Given the description of an element on the screen output the (x, y) to click on. 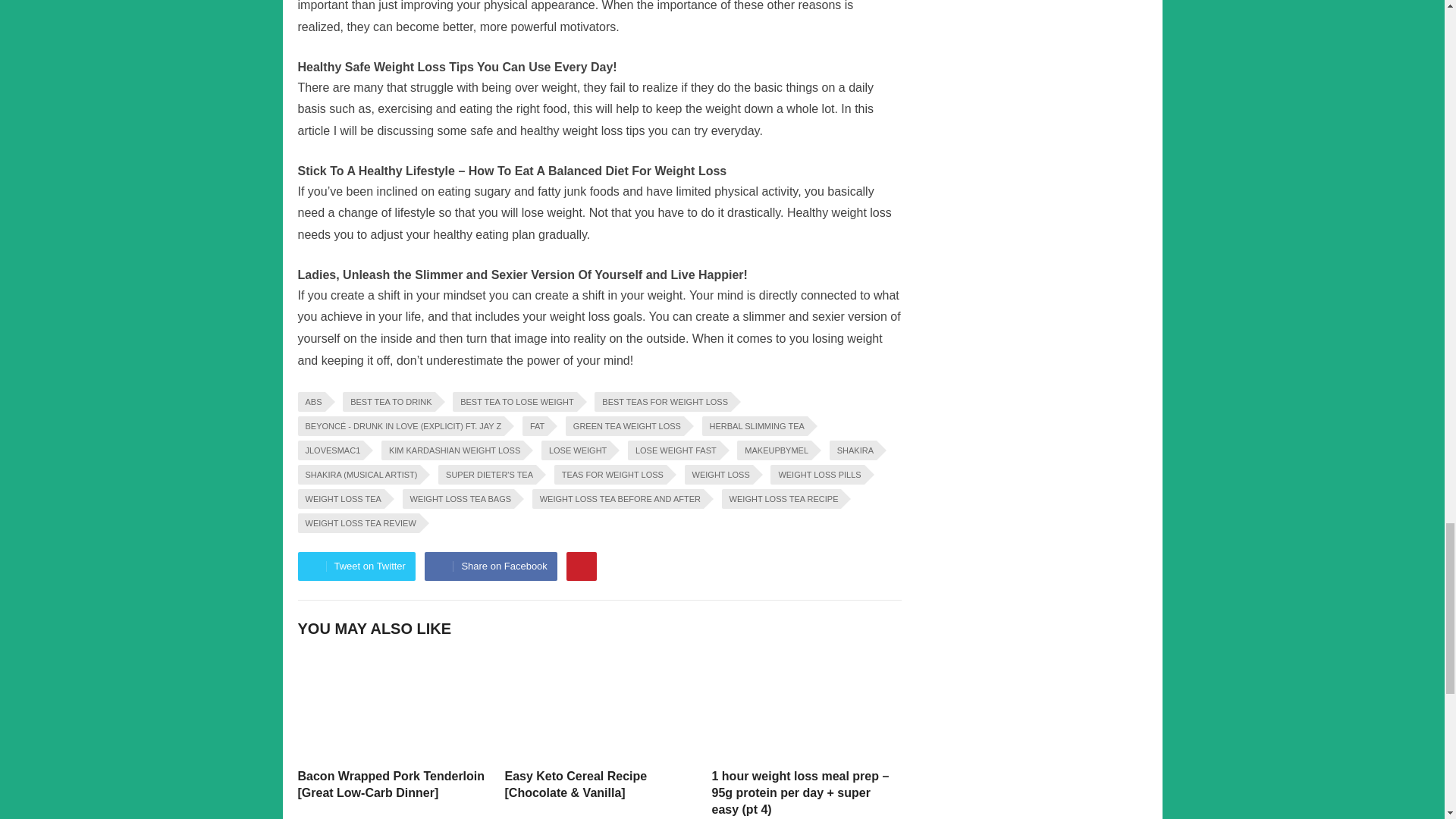
LOSE WEIGHT FAST (673, 450)
ABS (310, 401)
MAKEUPBYMEL (773, 450)
FAT (534, 425)
GREEN TEA WEIGHT LOSS (625, 425)
SHAKIRA (852, 450)
BEST TEA TO DRINK (387, 401)
BEST TEA TO LOSE WEIGHT (514, 401)
BEST TEAS FOR WEIGHT LOSS (662, 401)
HERBAL SLIMMING TEA (754, 425)
LOSE WEIGHT (575, 450)
JLOVESMAC1 (329, 450)
KIM KARDASHIAN WEIGHT LOSS (451, 450)
